Given the description of an element on the screen output the (x, y) to click on. 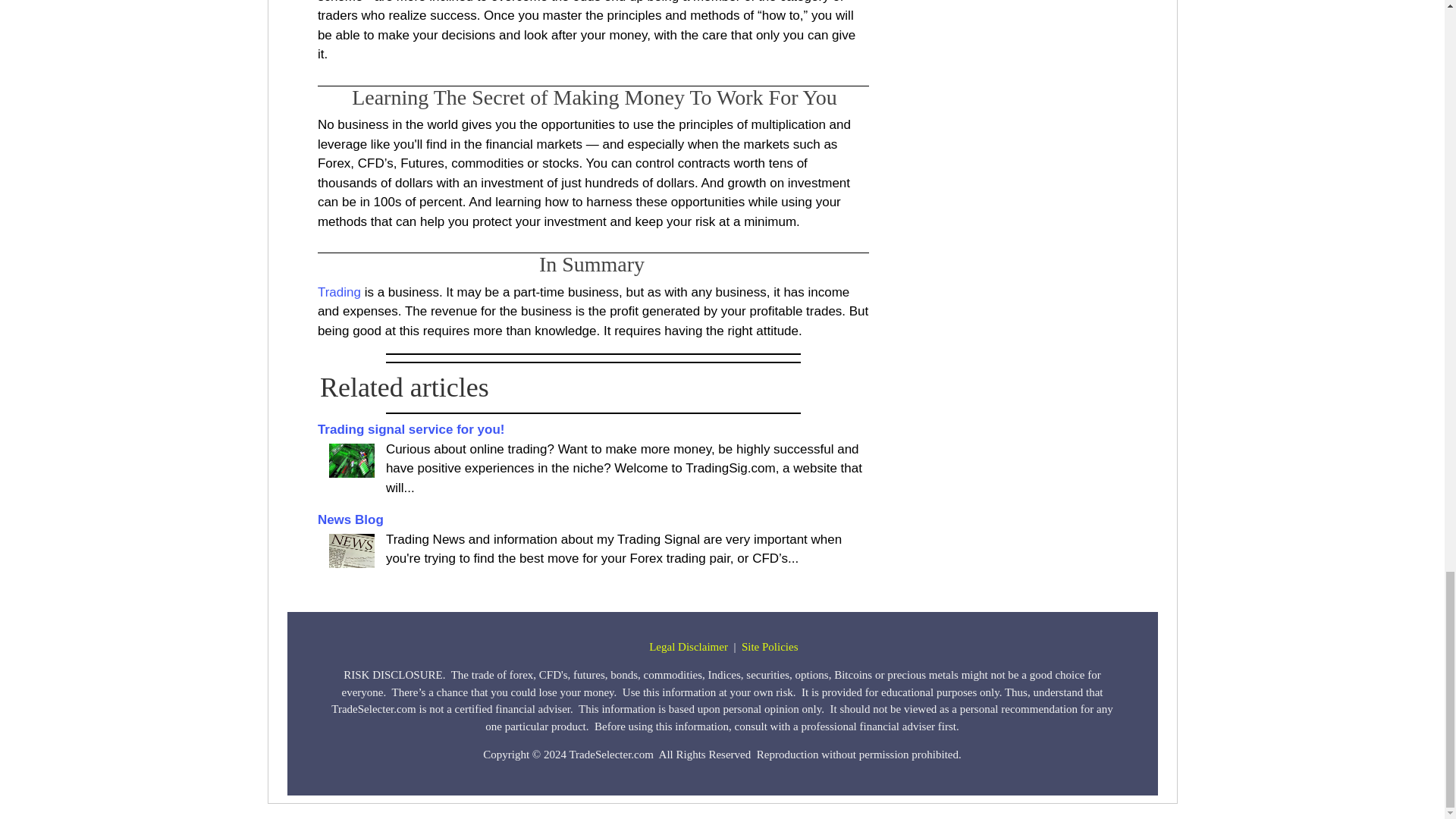
Trading (351, 460)
News Blog (351, 550)
